Given the description of an element on the screen output the (x, y) to click on. 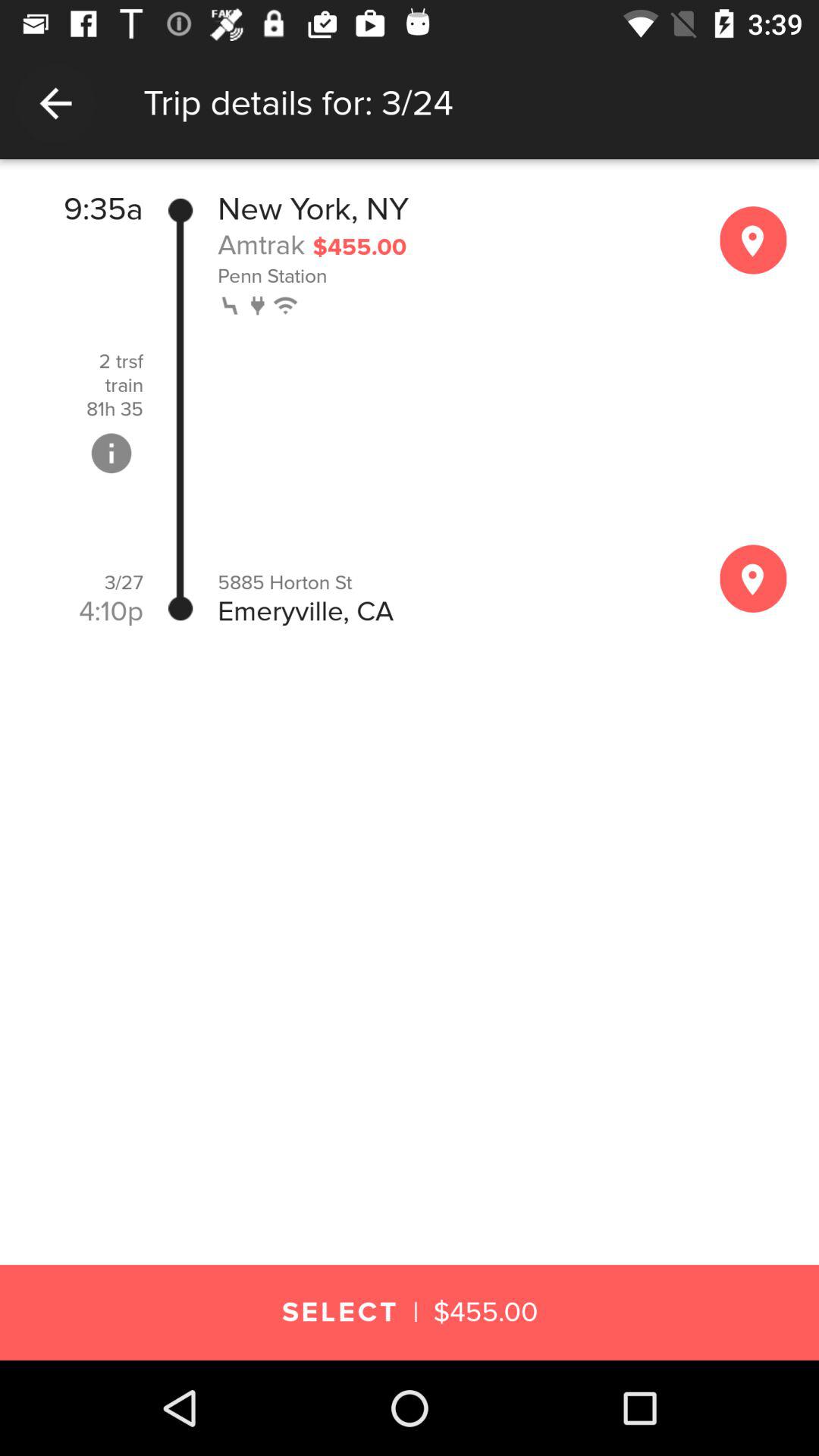
flip to the emeryville, ca icon (452, 611)
